Given the description of an element on the screen output the (x, y) to click on. 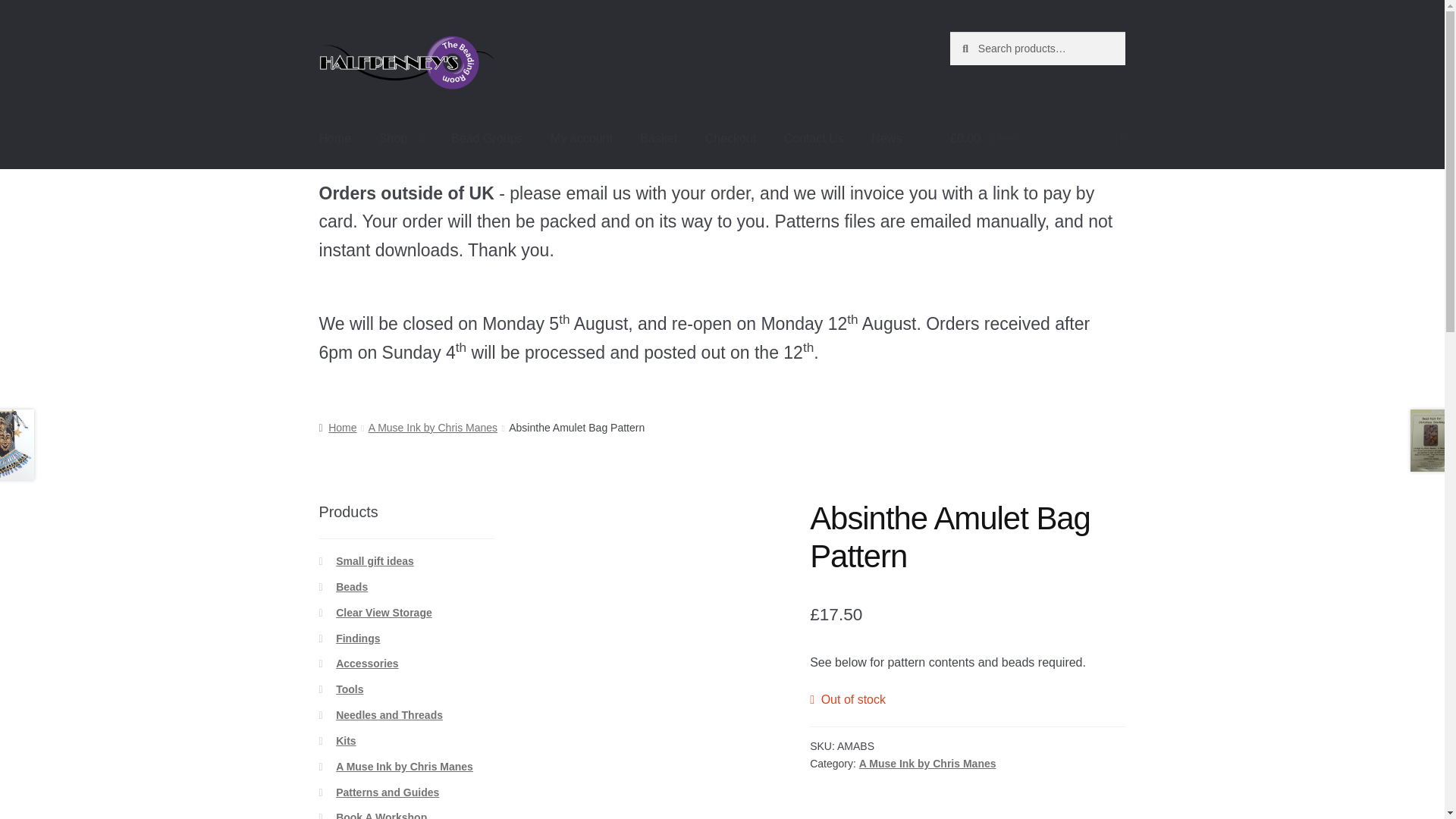
Checkout (730, 138)
View your shopping basket (1037, 138)
Contact Us (813, 138)
My account (581, 138)
Bead Groups (486, 138)
News (886, 138)
Home (335, 138)
Basket (657, 138)
